Given the description of an element on the screen output the (x, y) to click on. 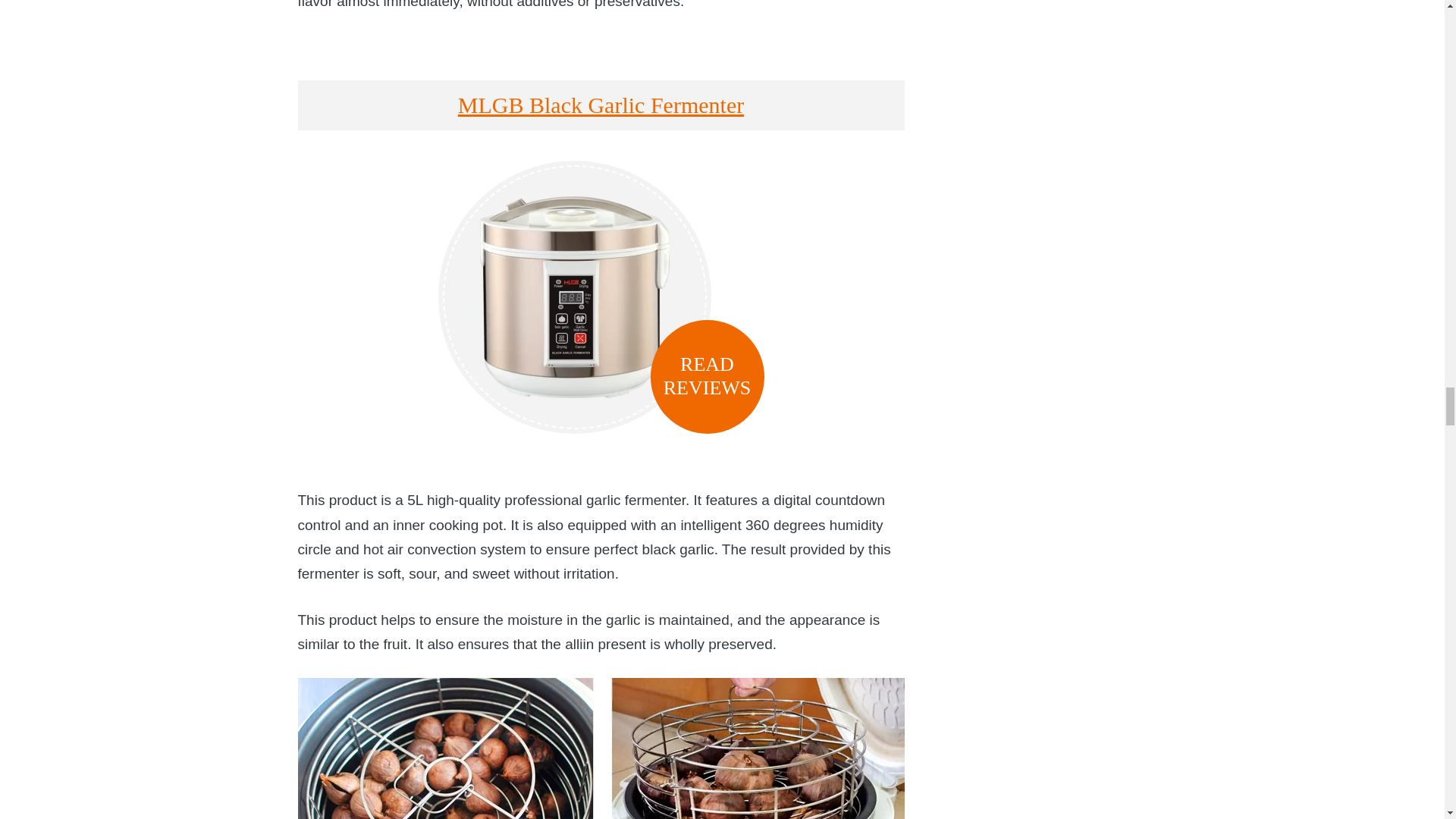
MLGB Black Garlic Fermenter Full Automatic Cooker 5L Review (574, 297)
MLGB Black Garlic Fermenter (600, 105)
MLGB Garlic Fermenter (600, 748)
